Given the description of an element on the screen output the (x, y) to click on. 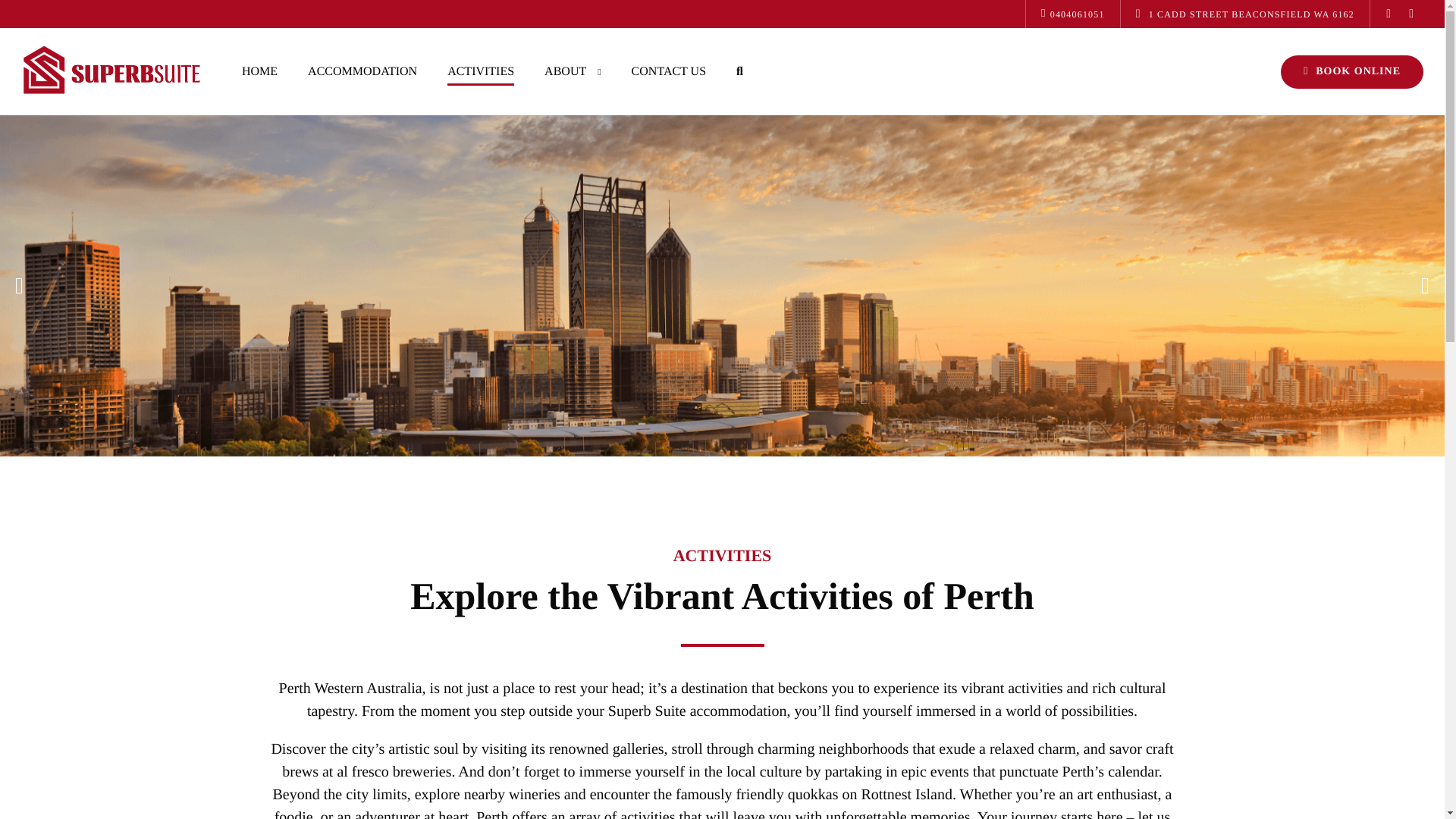
ABOUT (572, 70)
HOME (259, 70)
Search (810, 9)
0404061051 (1072, 13)
BOOK ONLINE (1352, 70)
ACCOMMODATION (362, 70)
CONTACT US (667, 70)
ACTIVITIES (480, 70)
